Given the description of an element on the screen output the (x, y) to click on. 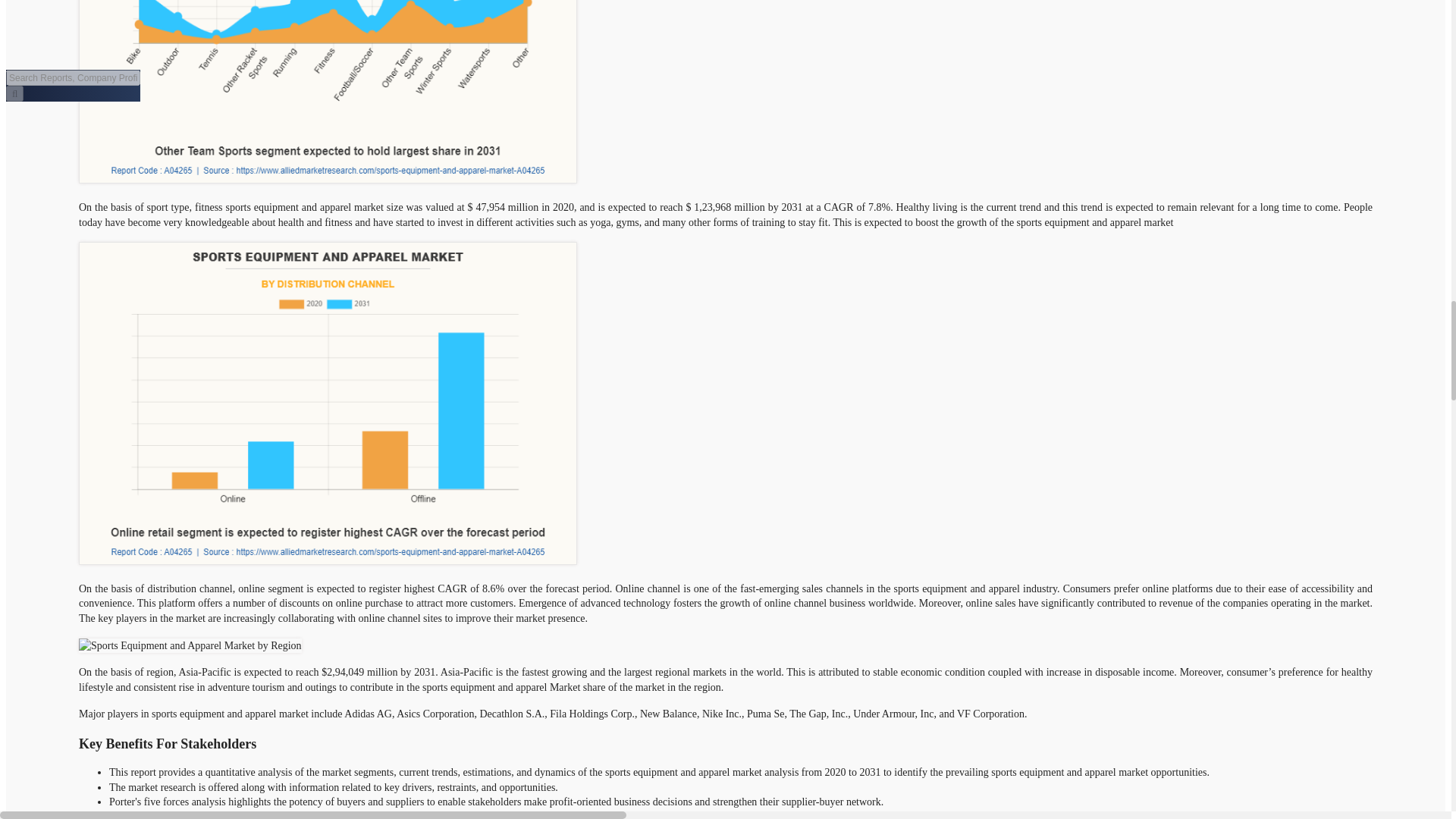
Sports Equipment and Apparel Market by Sports Type (327, 91)
Sports Equipment and Apparel Market by Region (189, 645)
